Given the description of an element on the screen output the (x, y) to click on. 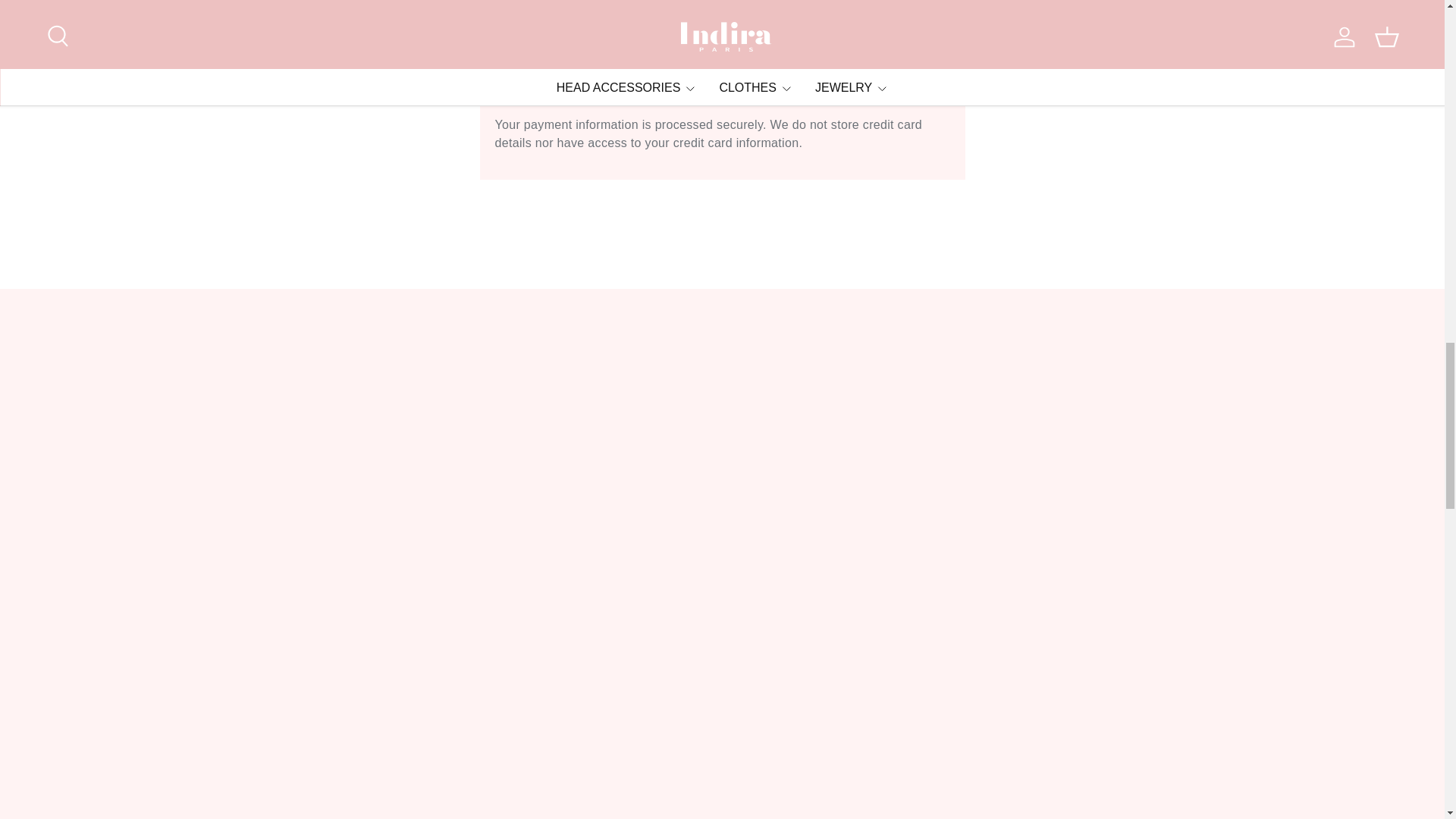
American Express (508, 89)
Cartes Bancaires (565, 89)
Shop Pay (652, 89)
PayPal (624, 89)
Mastercard (595, 89)
Apple Pay (536, 89)
